Given the description of an element on the screen output the (x, y) to click on. 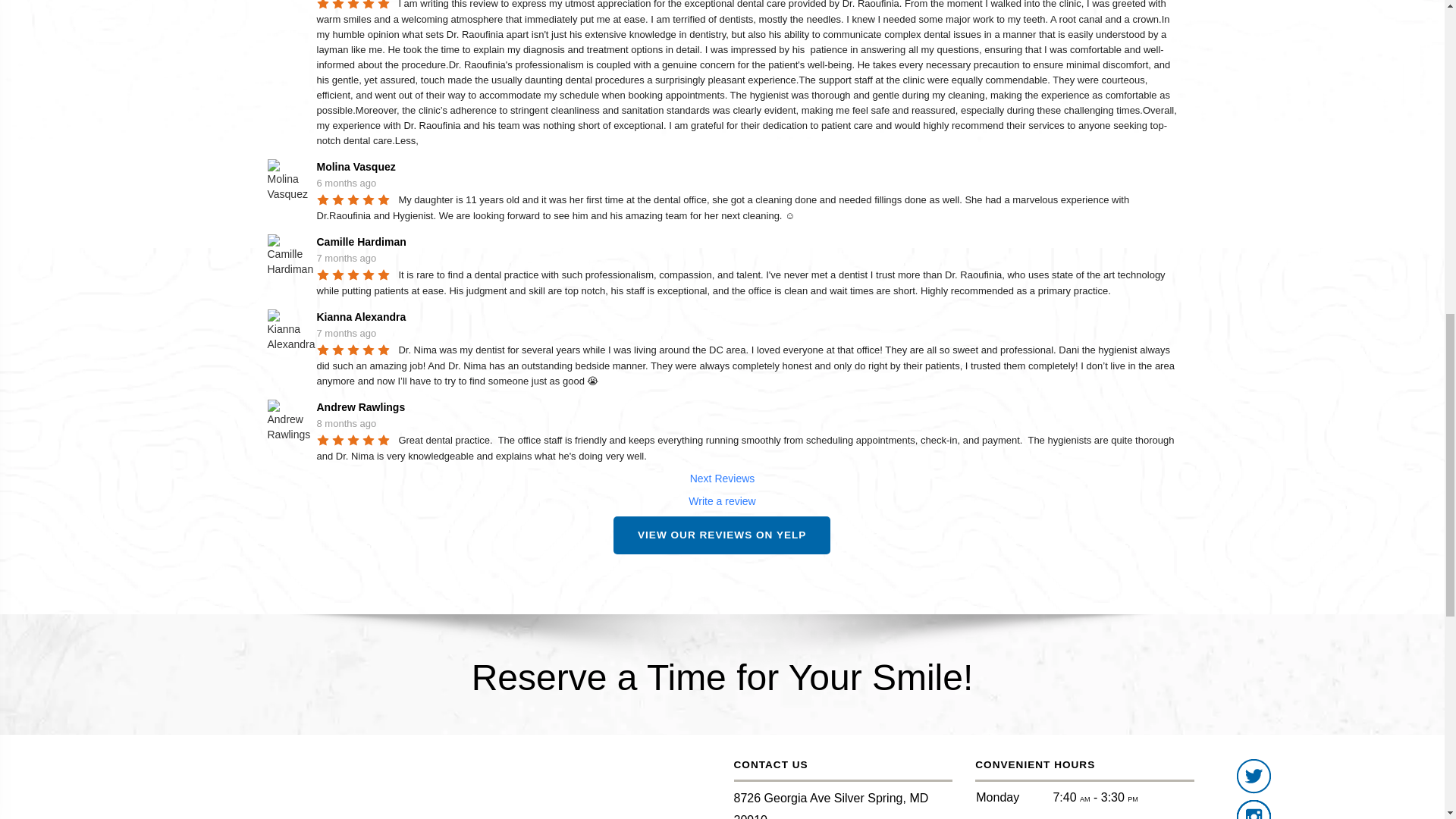
Follow us on Instagram (1254, 809)
Follow us on Twitter (1254, 776)
